Given the description of an element on the screen output the (x, y) to click on. 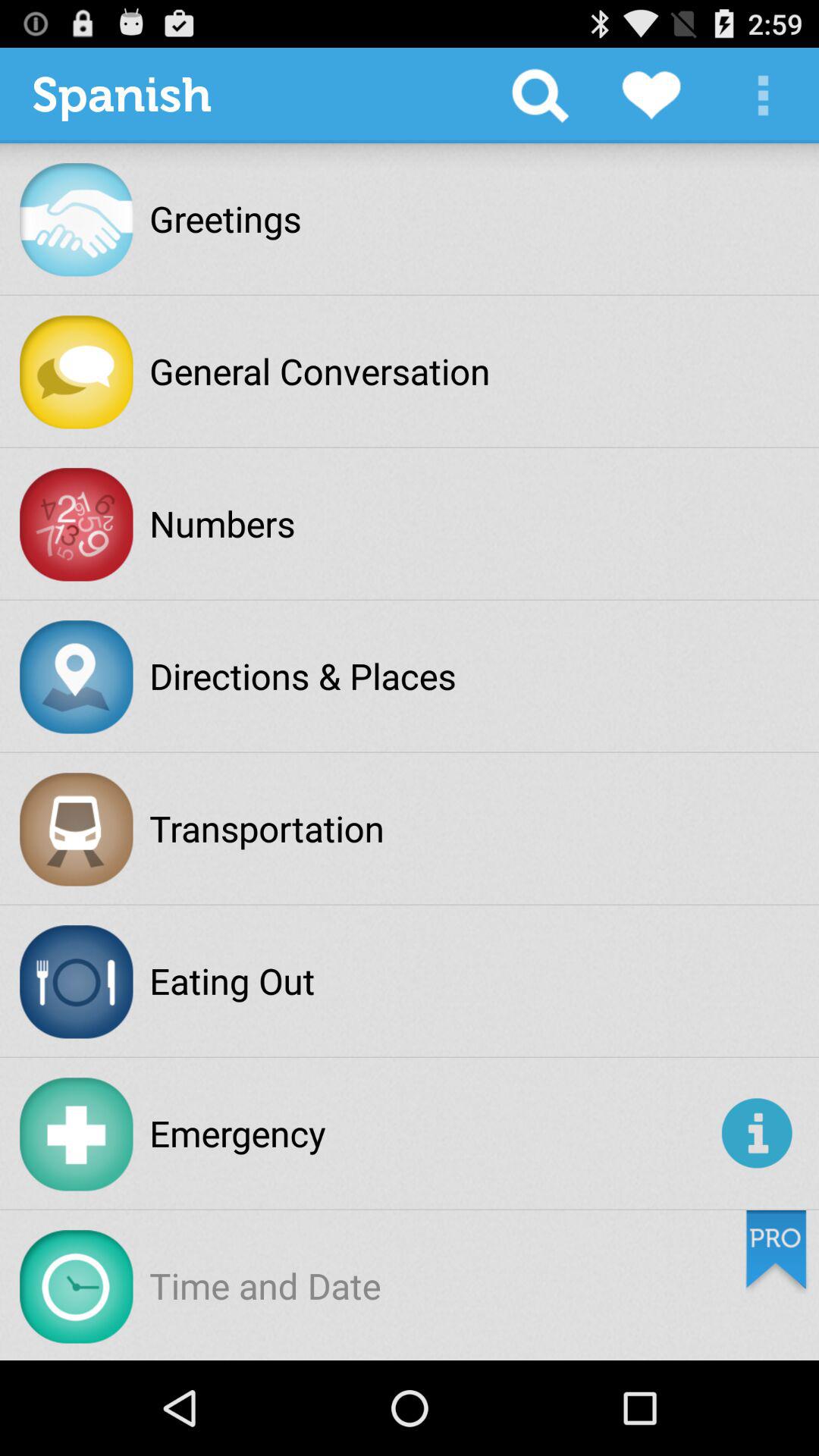
click the directions & places item (302, 675)
